Given the description of an element on the screen output the (x, y) to click on. 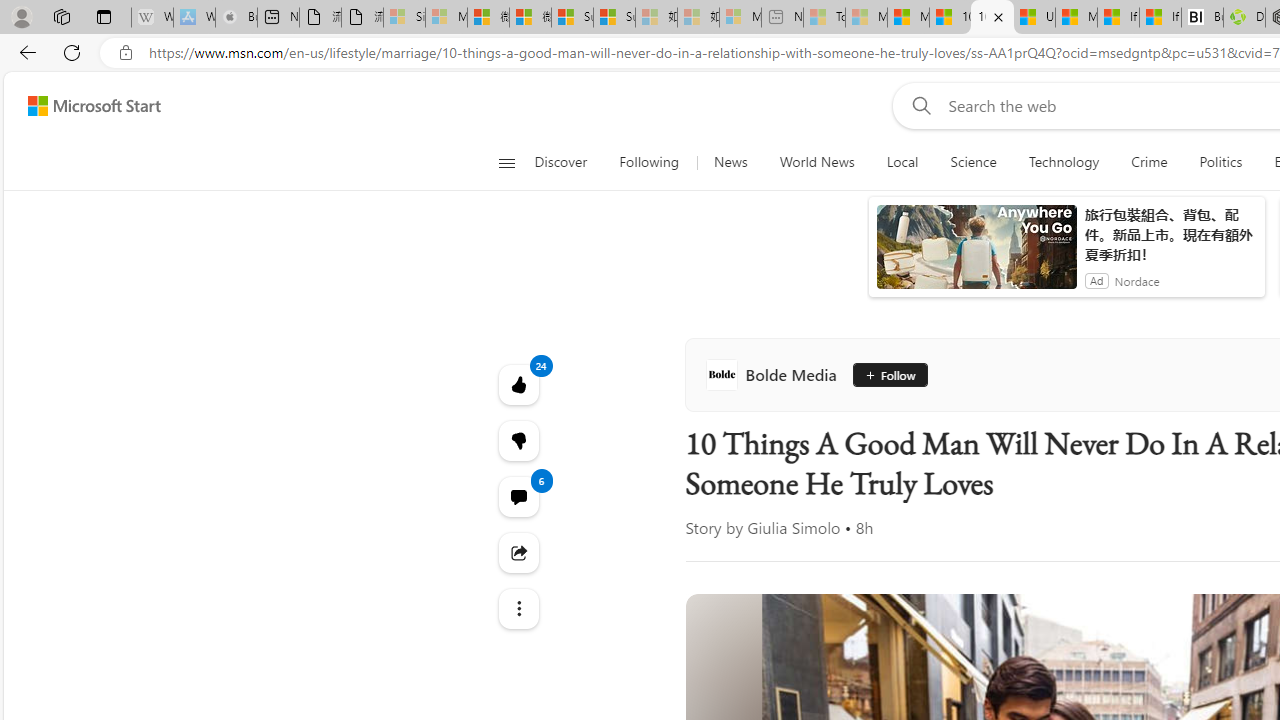
Crime (1149, 162)
Crime (1149, 162)
Technology (1064, 162)
Microsoft account | Account Checkup - Sleeping (740, 17)
Web search (917, 105)
Microsoft Start (94, 105)
View comments 6 Comment (517, 496)
Science (973, 162)
Class: button-glyph (505, 162)
